Given the description of an element on the screen output the (x, y) to click on. 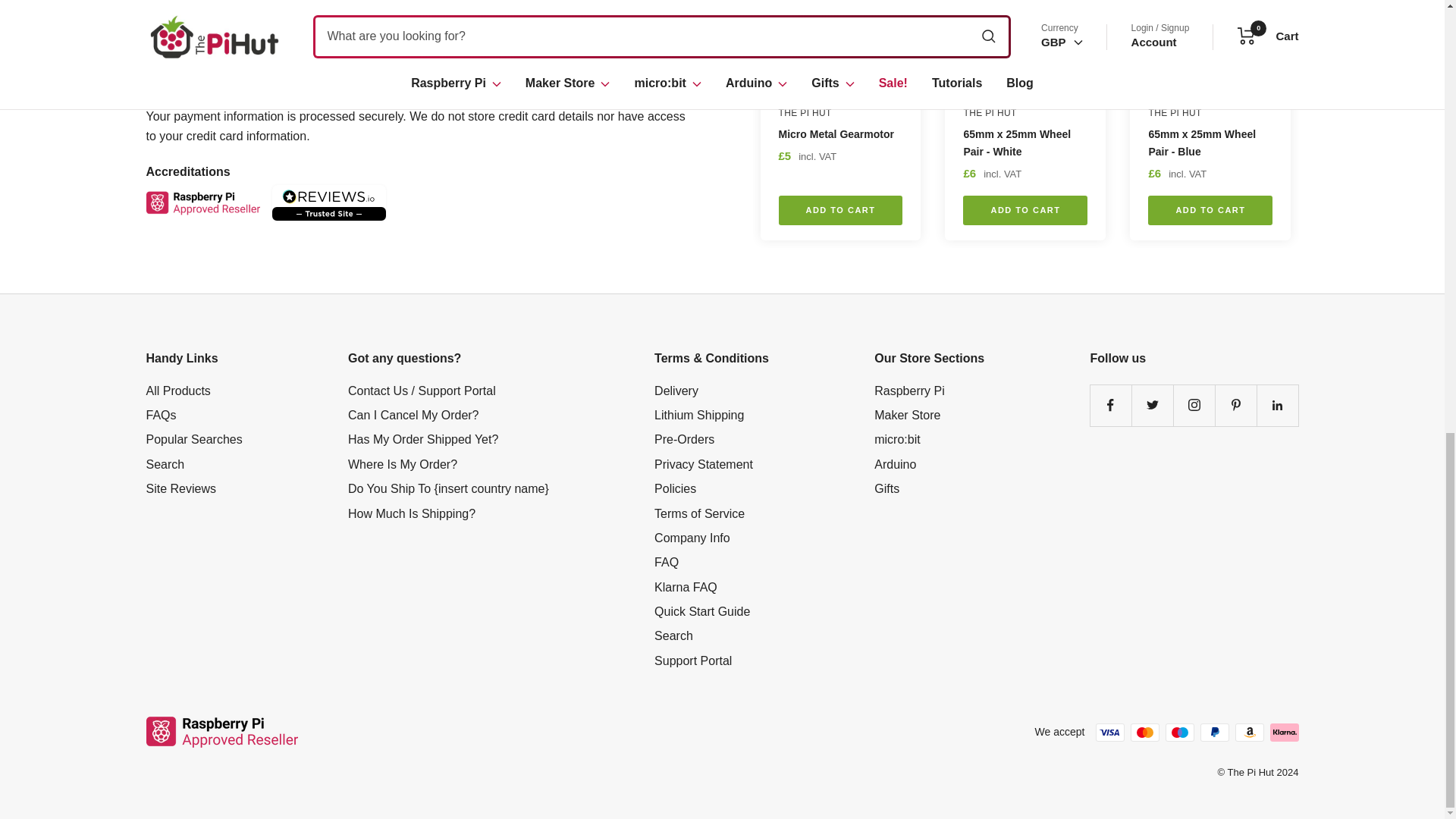
Maestro (223, 91)
Visa (159, 91)
Mastercard (191, 91)
